Given the description of an element on the screen output the (x, y) to click on. 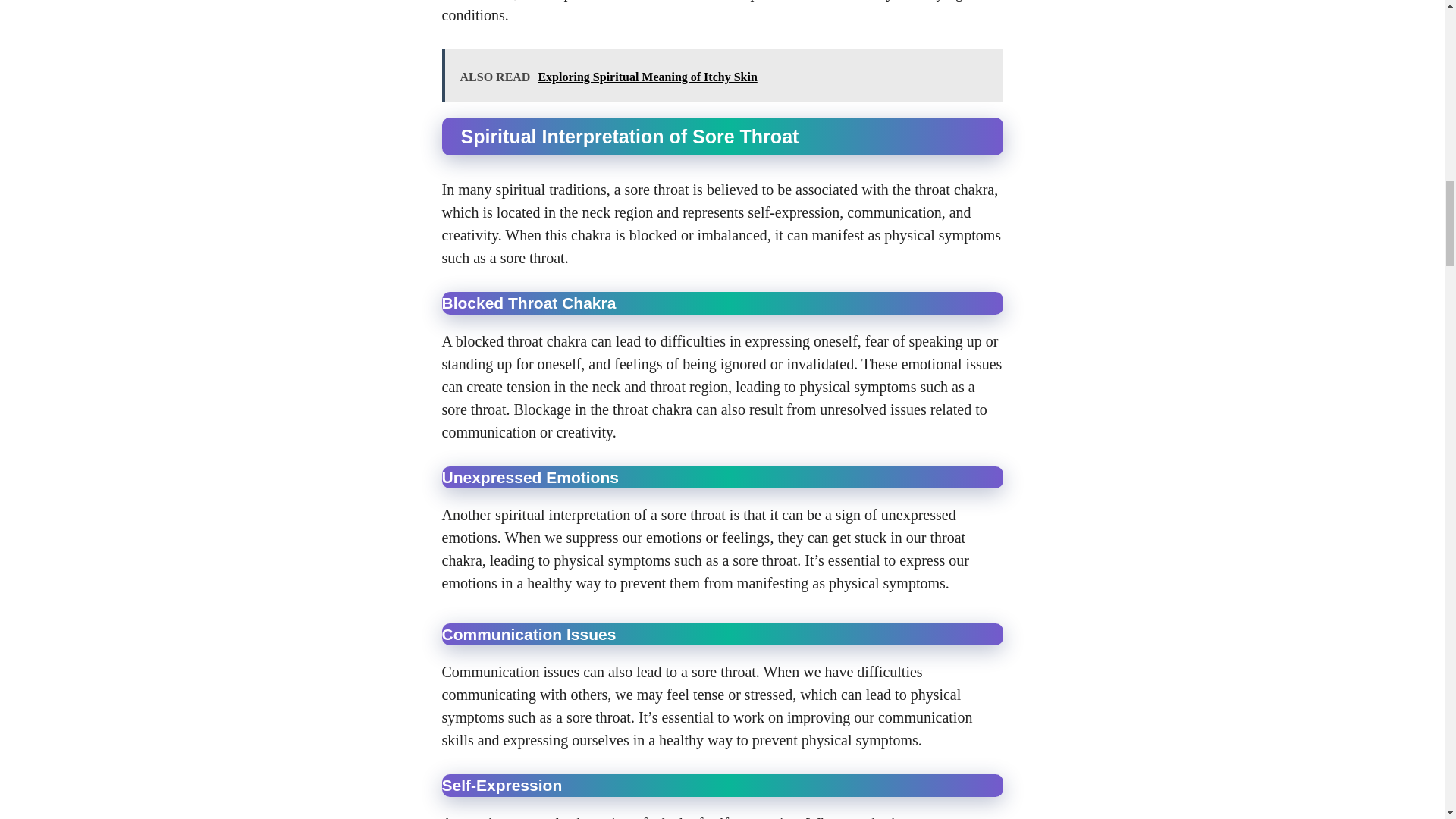
ALSO READ  Exploring Spiritual Meaning of Itchy Skin (722, 75)
